Given the description of an element on the screen output the (x, y) to click on. 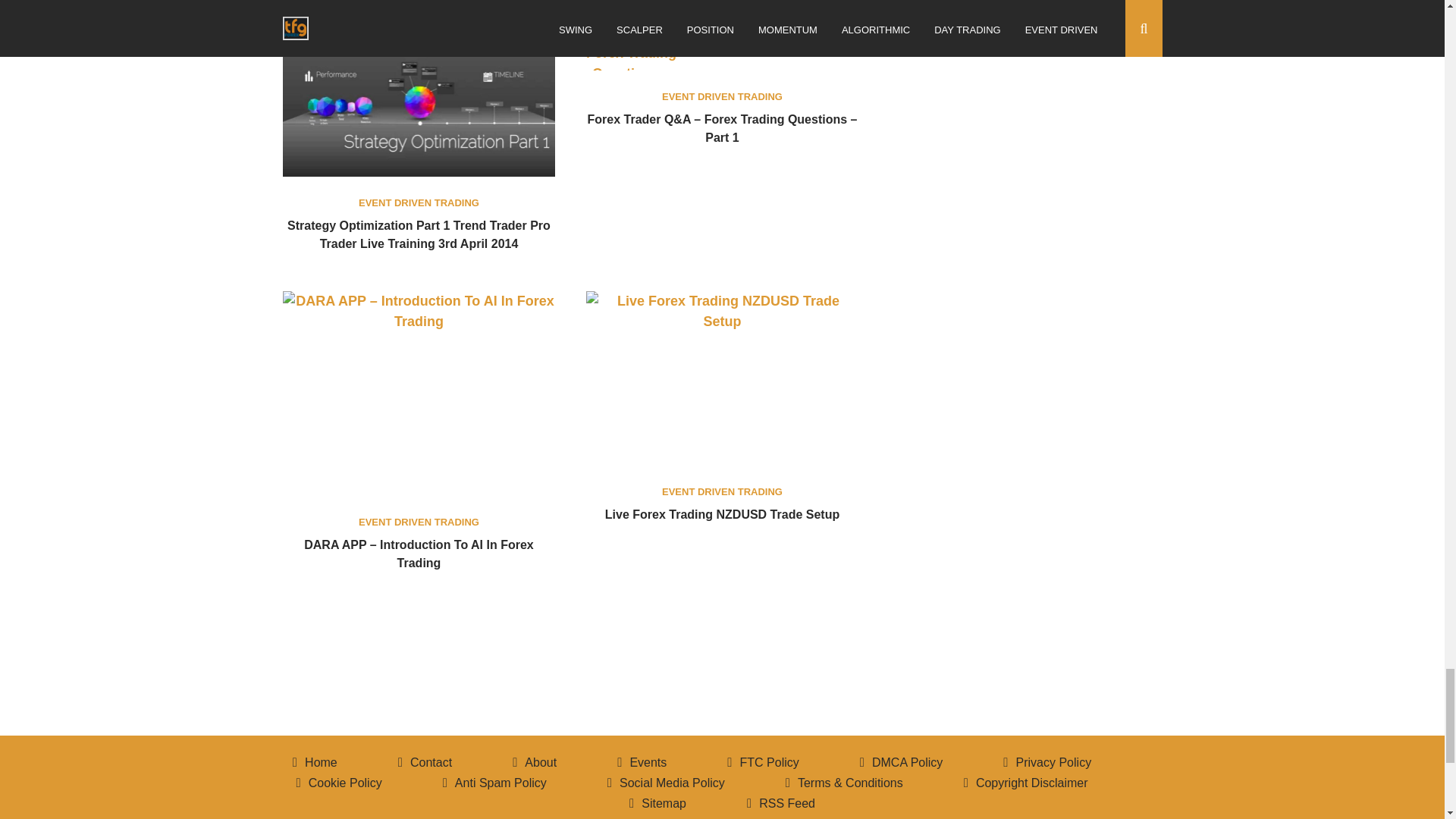
Live Forex Trading NZDUSD Trade Setup (722, 513)
EVENT DRIVEN TRADING (722, 96)
EVENT DRIVEN TRADING (418, 521)
EVENT DRIVEN TRADING (418, 202)
EVENT DRIVEN TRADING (722, 491)
